Given the description of an element on the screen output the (x, y) to click on. 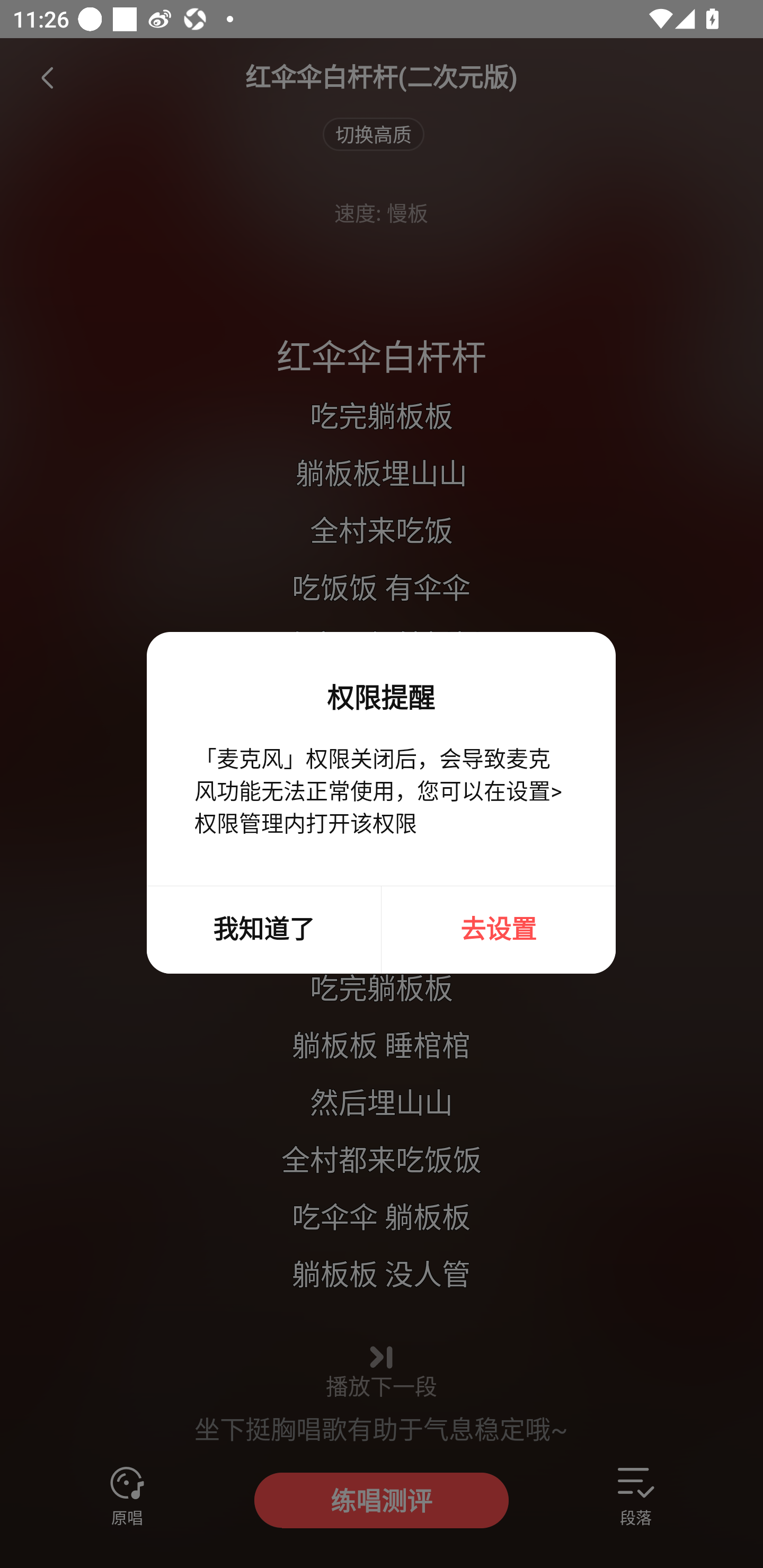
我知道了 (263, 929)
去设置 (498, 929)
